Given the description of an element on the screen output the (x, y) to click on. 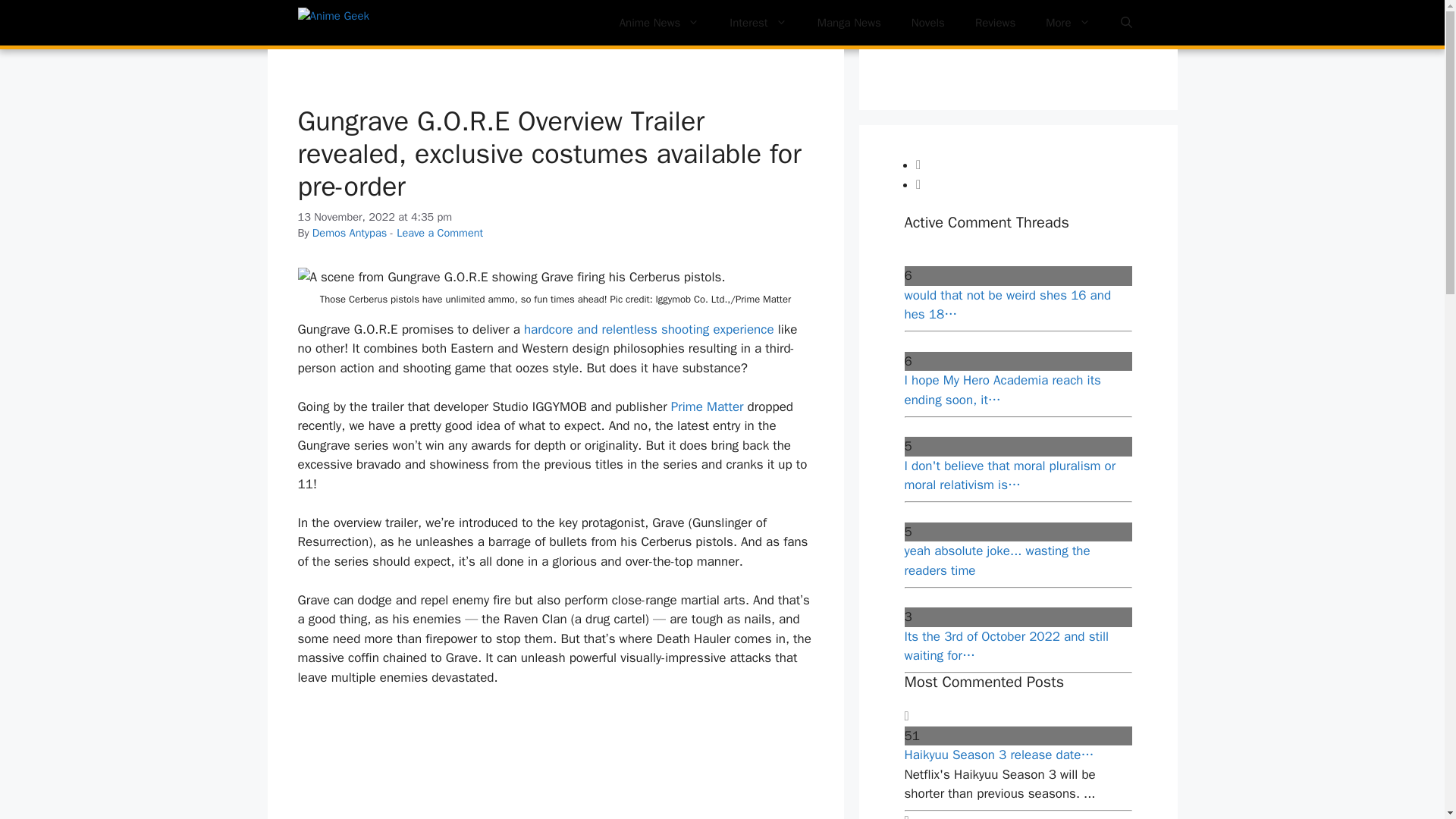
Anime Geek (372, 22)
More (1067, 22)
6 (1017, 361)
Gungrave G.O.R.E - Overview Trailer (554, 762)
Most commented posts (1027, 184)
View all posts by Demos Antypas (350, 232)
Reviews (994, 22)
hardcore and relentless shooting experience (649, 329)
Novels (927, 22)
Leave a Comment (439, 232)
